Given the description of an element on the screen output the (x, y) to click on. 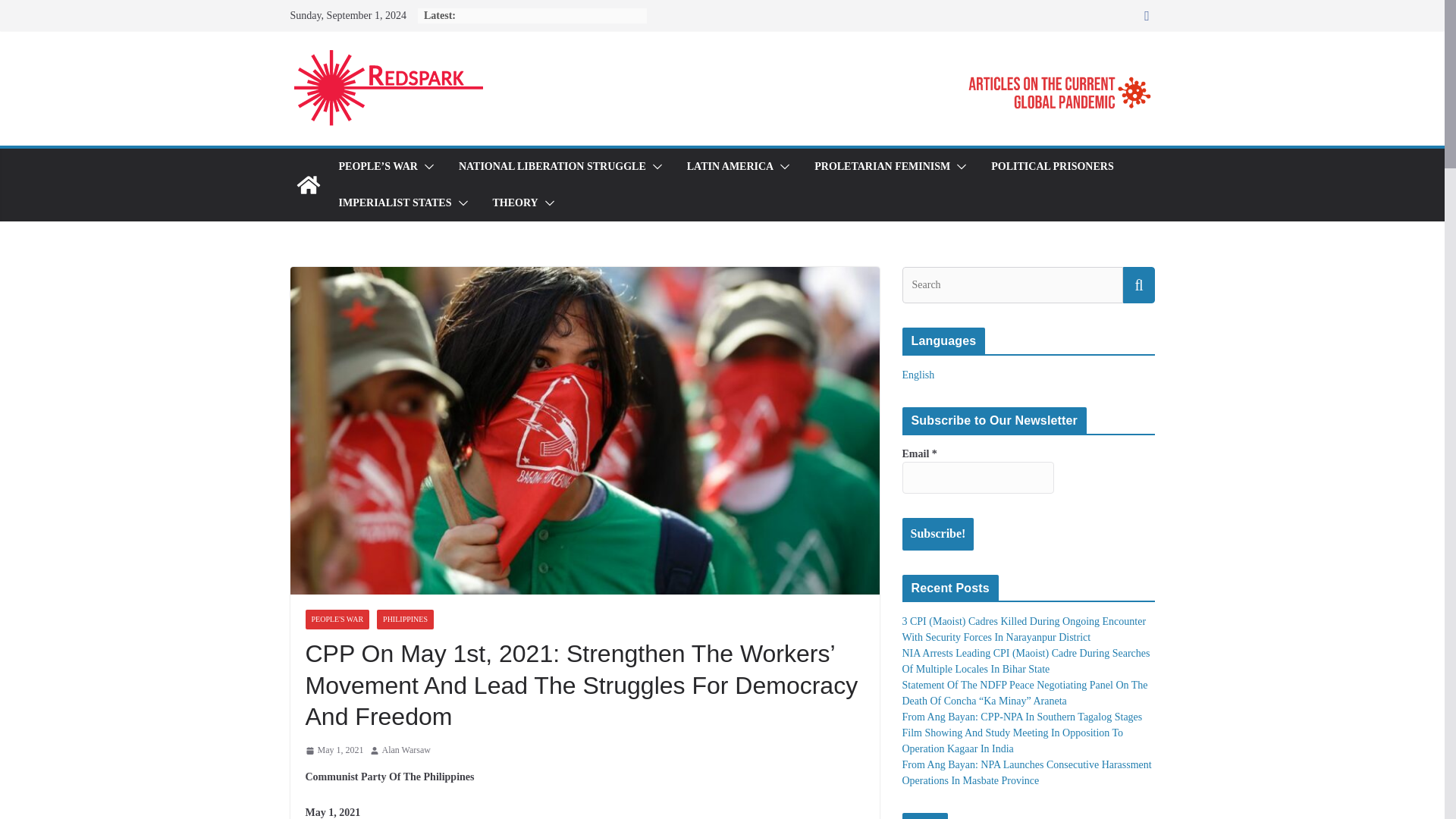
IMPERIALIST STATES (394, 202)
10:02 pm (333, 750)
Subscribe! (938, 533)
PROLETARIAN FEMINISM (881, 166)
Email (978, 477)
Redspark (307, 185)
LATIN AMERICA (730, 166)
POLITICAL PRISONERS (1052, 166)
Alan Warsaw (405, 750)
NATIONAL LIBERATION STRUGGLE (552, 166)
